Given the description of an element on the screen output the (x, y) to click on. 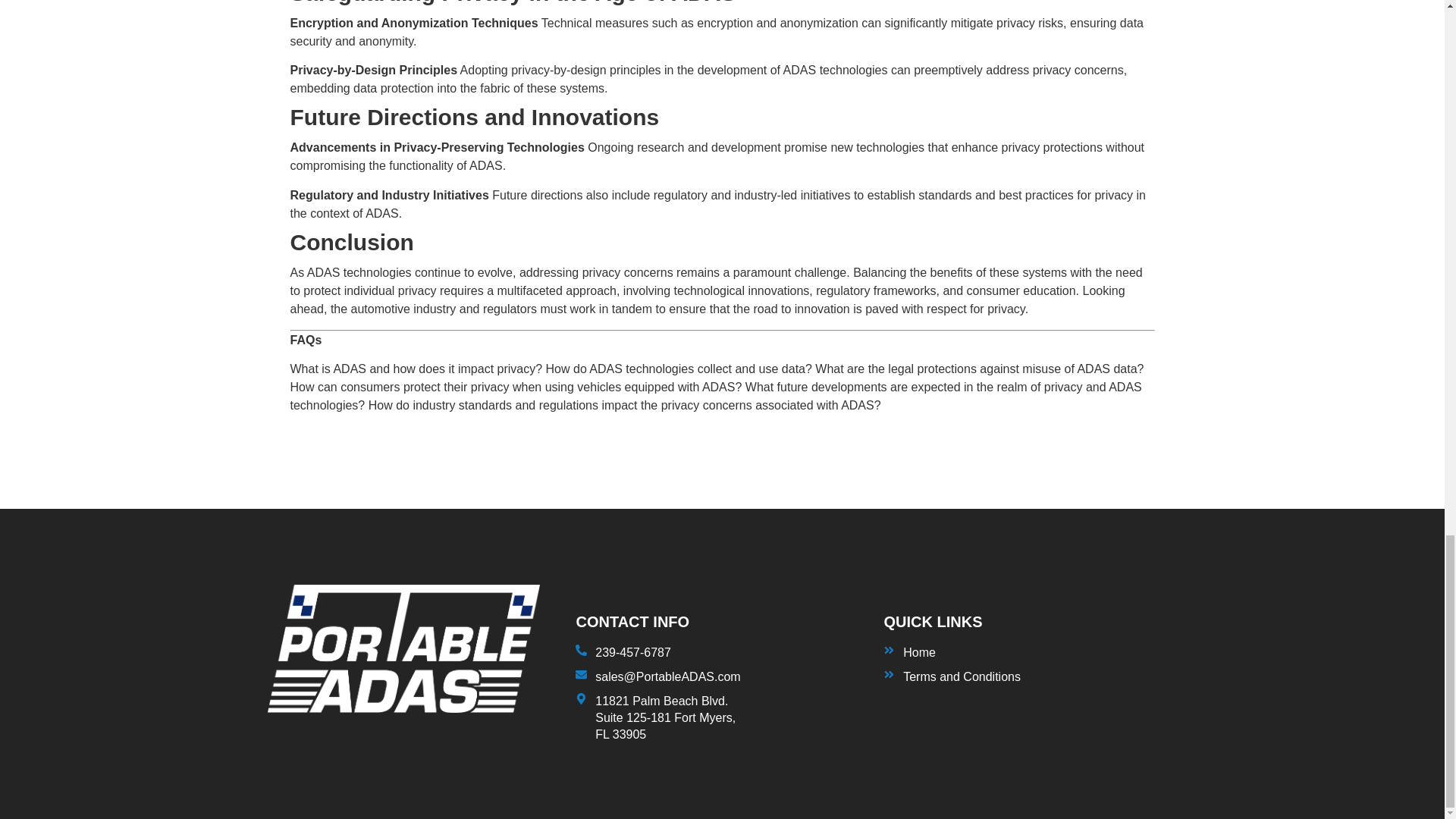
Terms and Conditions (724, 717)
Home (1029, 677)
239-457-6787 (1029, 652)
